Given the description of an element on the screen output the (x, y) to click on. 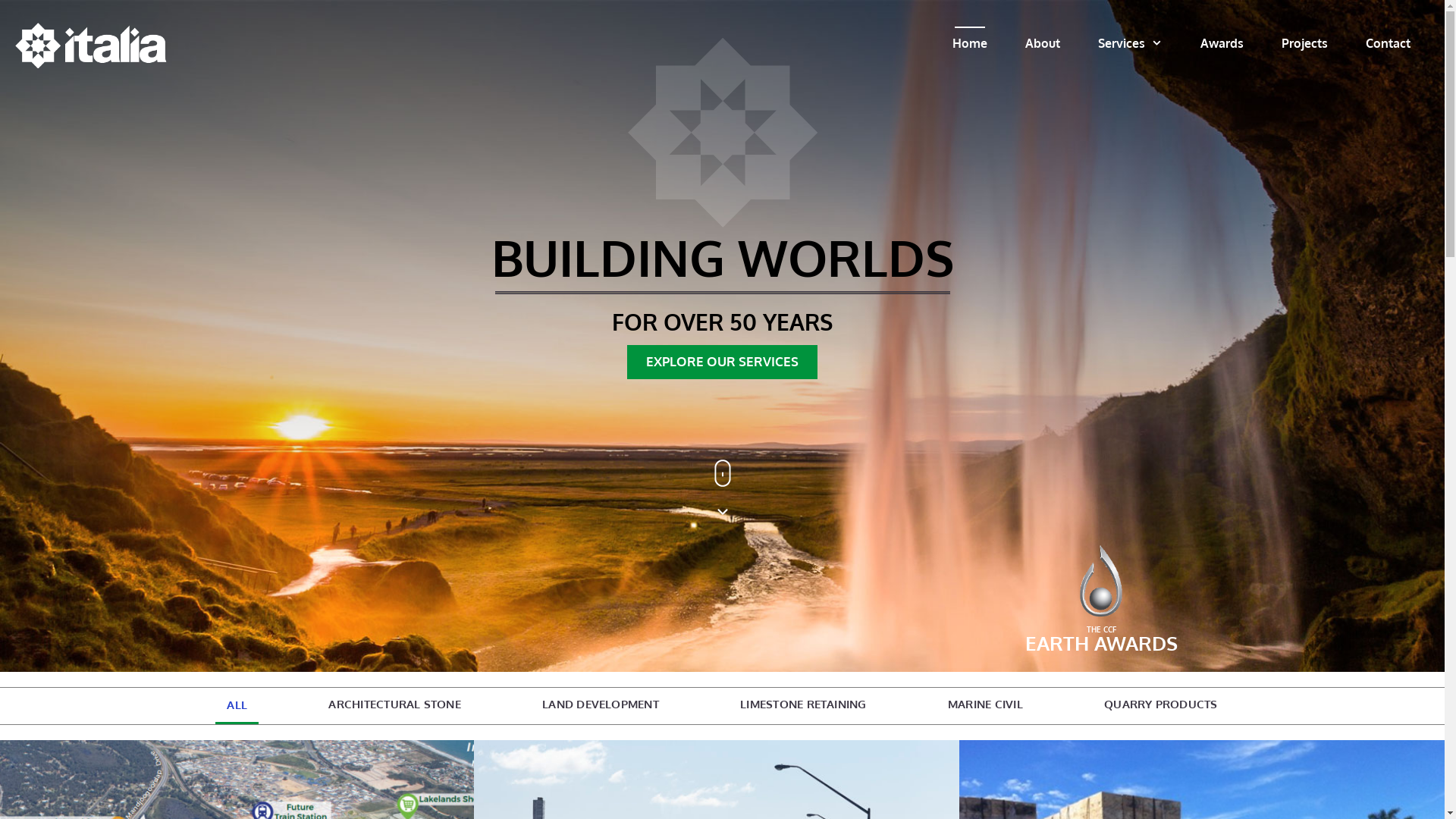
Home Element type: text (969, 42)
QUARRY PRODUCTS Element type: text (1160, 703)
MARINE CIVIL Element type: text (985, 703)
Services Element type: text (1130, 42)
LIMESTONE RETAINING Element type: text (803, 703)
Awards Element type: text (1221, 42)
Projects Element type: text (1304, 42)
LAND DEVELOPMENT Element type: text (600, 703)
About Element type: text (1042, 42)
Contact Element type: text (1387, 42)
ALL Element type: text (236, 705)
ARCHITECTURAL STONE Element type: text (394, 703)
EXPLORE OUR SERVICES Element type: text (722, 362)
